Given the description of an element on the screen output the (x, y) to click on. 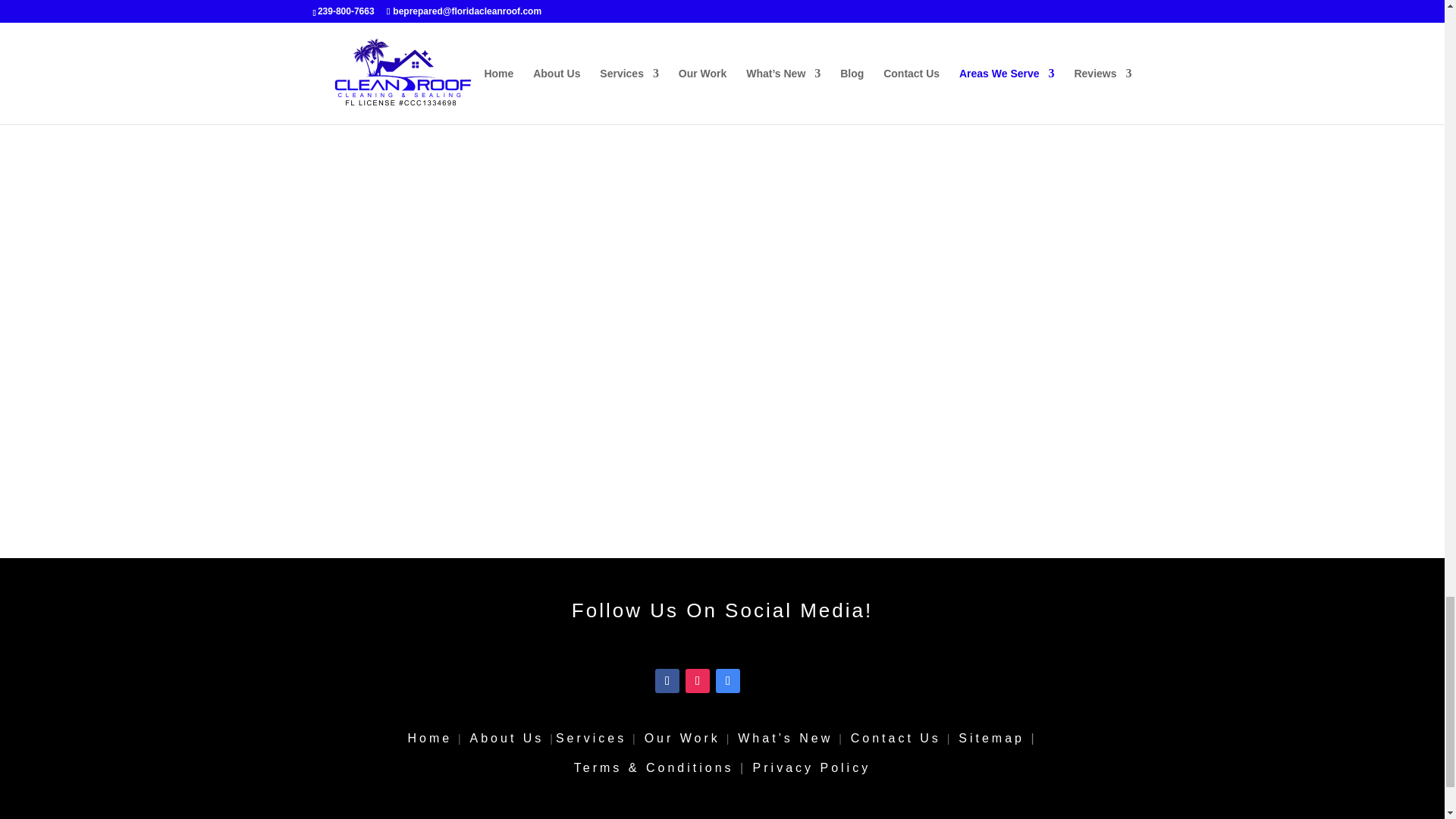
Services (591, 738)
Home (429, 738)
About Us (507, 738)
CALL US TODAY (722, 53)
Our Work (682, 738)
Contact Us (895, 738)
